Given the description of an element on the screen output the (x, y) to click on. 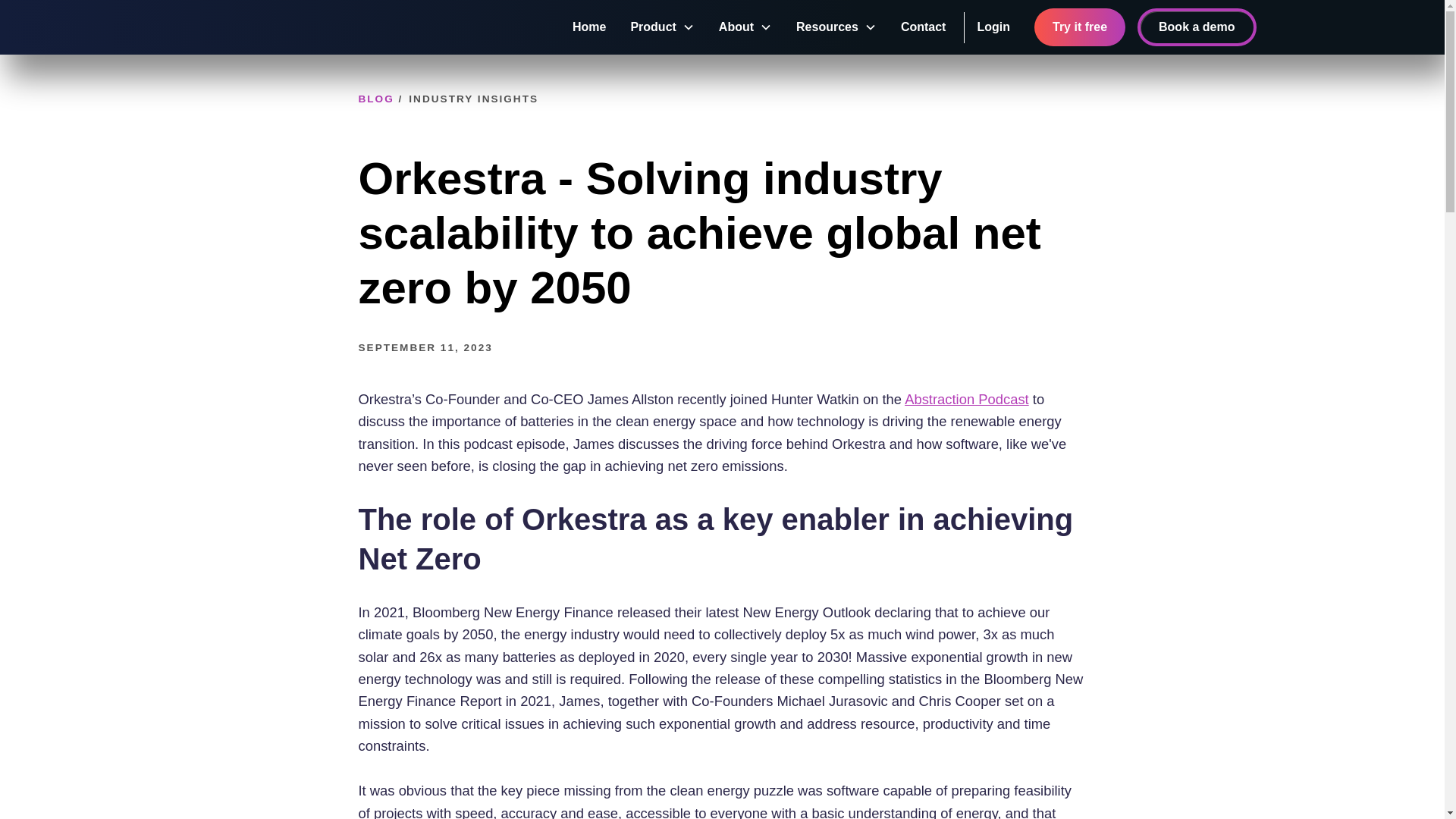
Abstraction Podcast (966, 399)
Home (588, 26)
Book a demo (1196, 26)
Try it free (1079, 26)
BLOG (375, 98)
Login (992, 26)
Contact (925, 26)
